Given the description of an element on the screen output the (x, y) to click on. 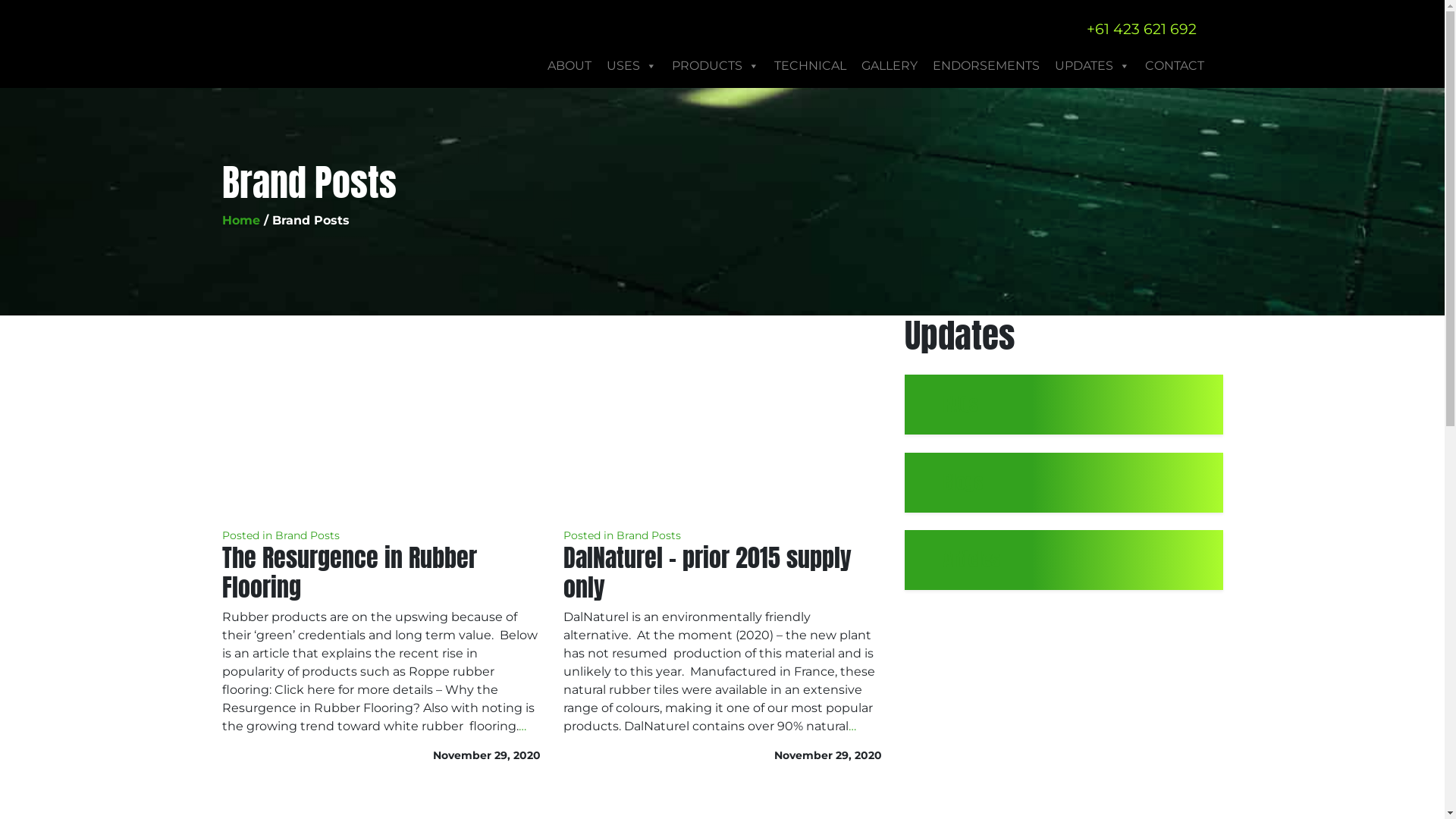
Email us Element type: hover (1057, 28)
UPDATES Element type: text (1091, 65)
GALLERY Element type: text (889, 65)
ABOUT Element type: text (569, 65)
Posted in Element type: text (588, 535)
+61 423 621 692 Element type: text (1134, 28)
PRODUCTS Element type: text (715, 65)
Blogs Element type: text (1062, 482)
Posted in Element type: text (247, 535)
iRubber - Rubber Flooring Supply Element type: hover (304, 41)
Brand Posts Element type: text (647, 535)
TECHNICAL Element type: text (809, 65)
ENDORSEMENTS Element type: text (986, 65)
USES Element type: text (631, 65)
FAQs Element type: text (1062, 404)
CONTACT Element type: text (1174, 65)
Brand Posts Element type: text (306, 535)
Articles Element type: text (1062, 559)
Home Element type: text (240, 220)
